Given the description of an element on the screen output the (x, y) to click on. 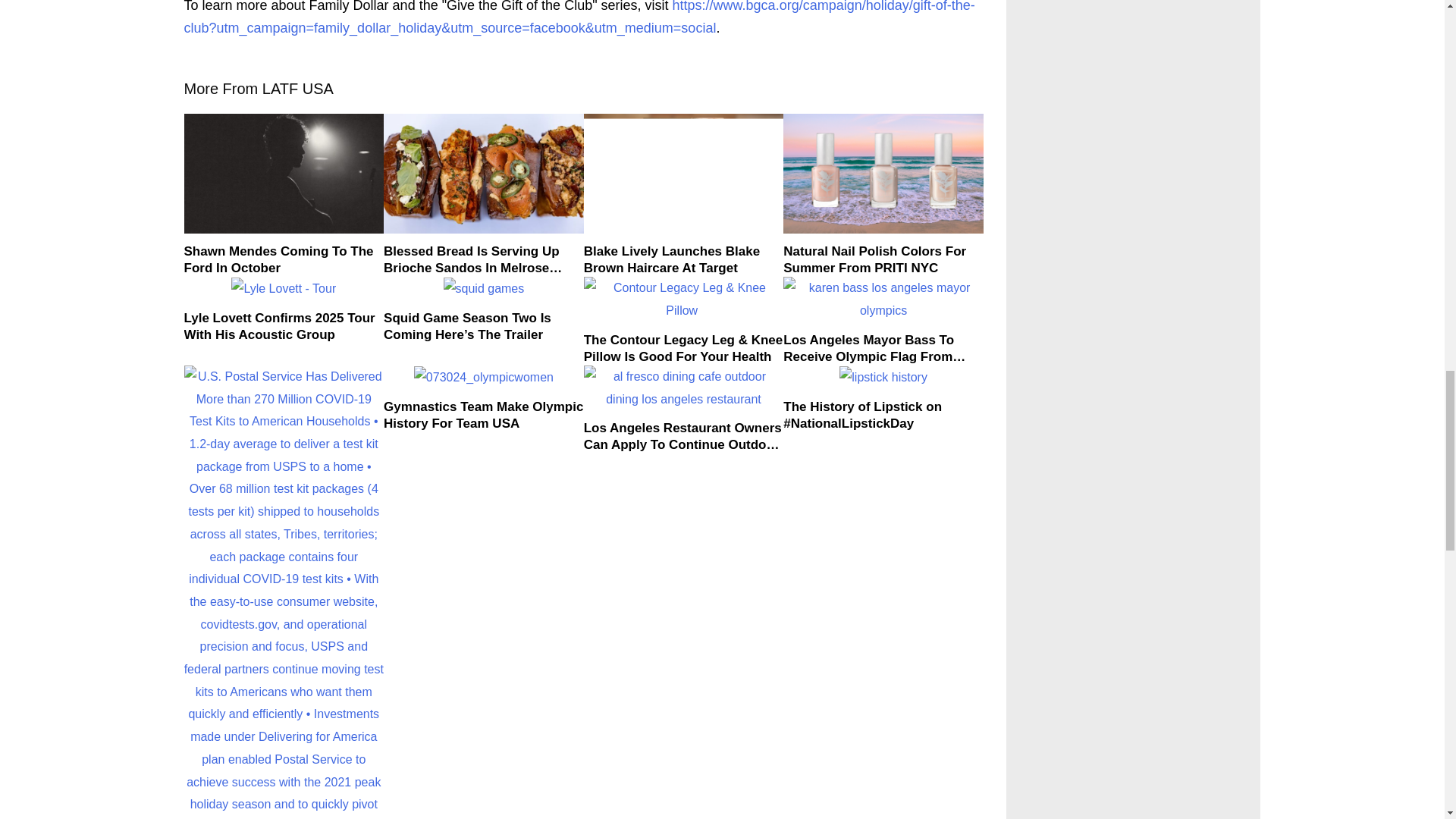
al fresco dining cafe outdoor dining los angeles restaurant (683, 387)
squid games (484, 288)
Shawn Mendes Live (283, 173)
karen bass los angeles mayor olympics (883, 298)
blake lively blake brown hair shampoo (683, 173)
blessed bread brioche sandwiches food truck in los angeles (483, 173)
lipstick history (883, 377)
priti nyc nail polish (883, 173)
